Given the description of an element on the screen output the (x, y) to click on. 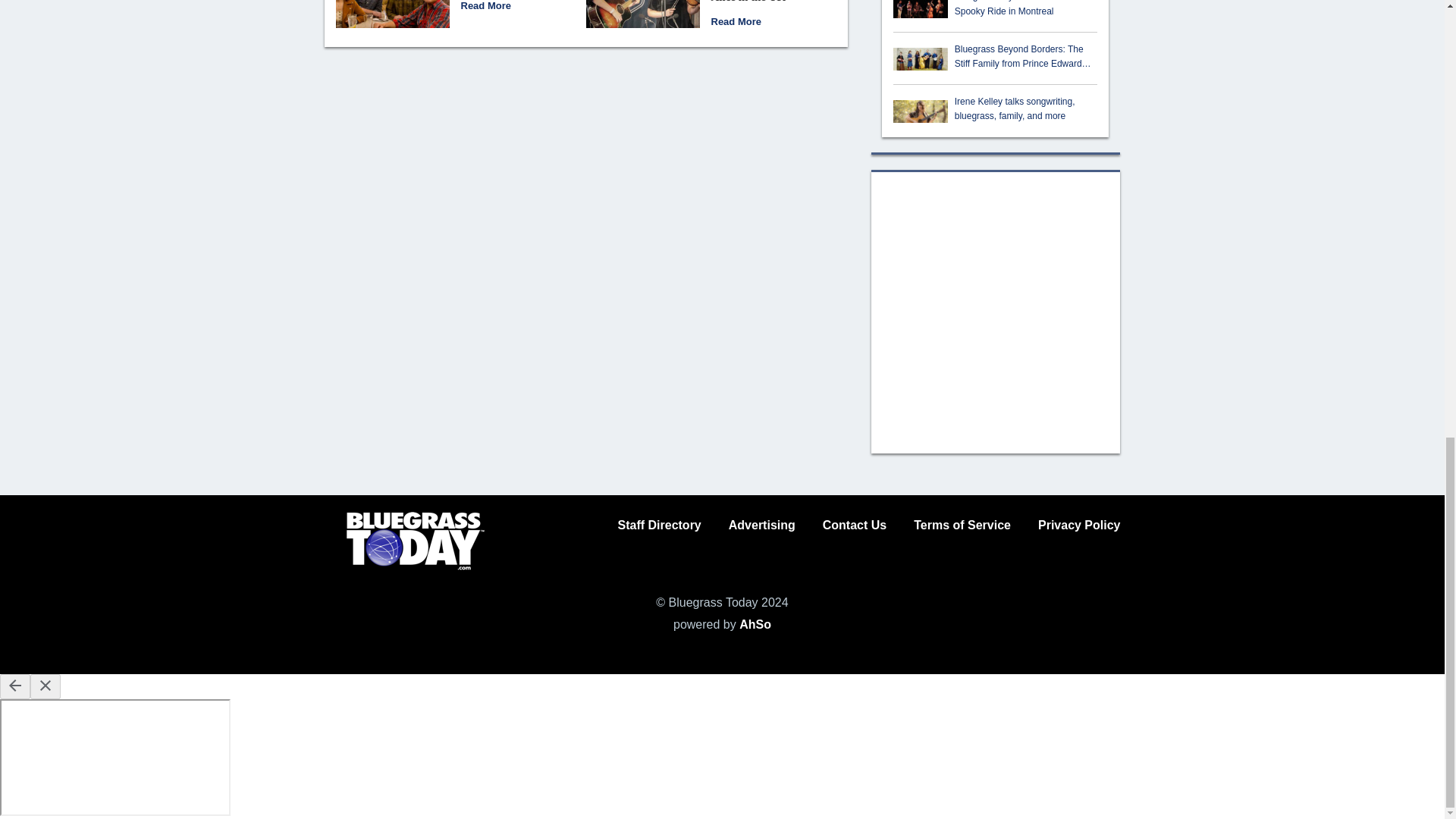
Pull The Trigger video from The Grascals (486, 5)
